Given the description of an element on the screen output the (x, y) to click on. 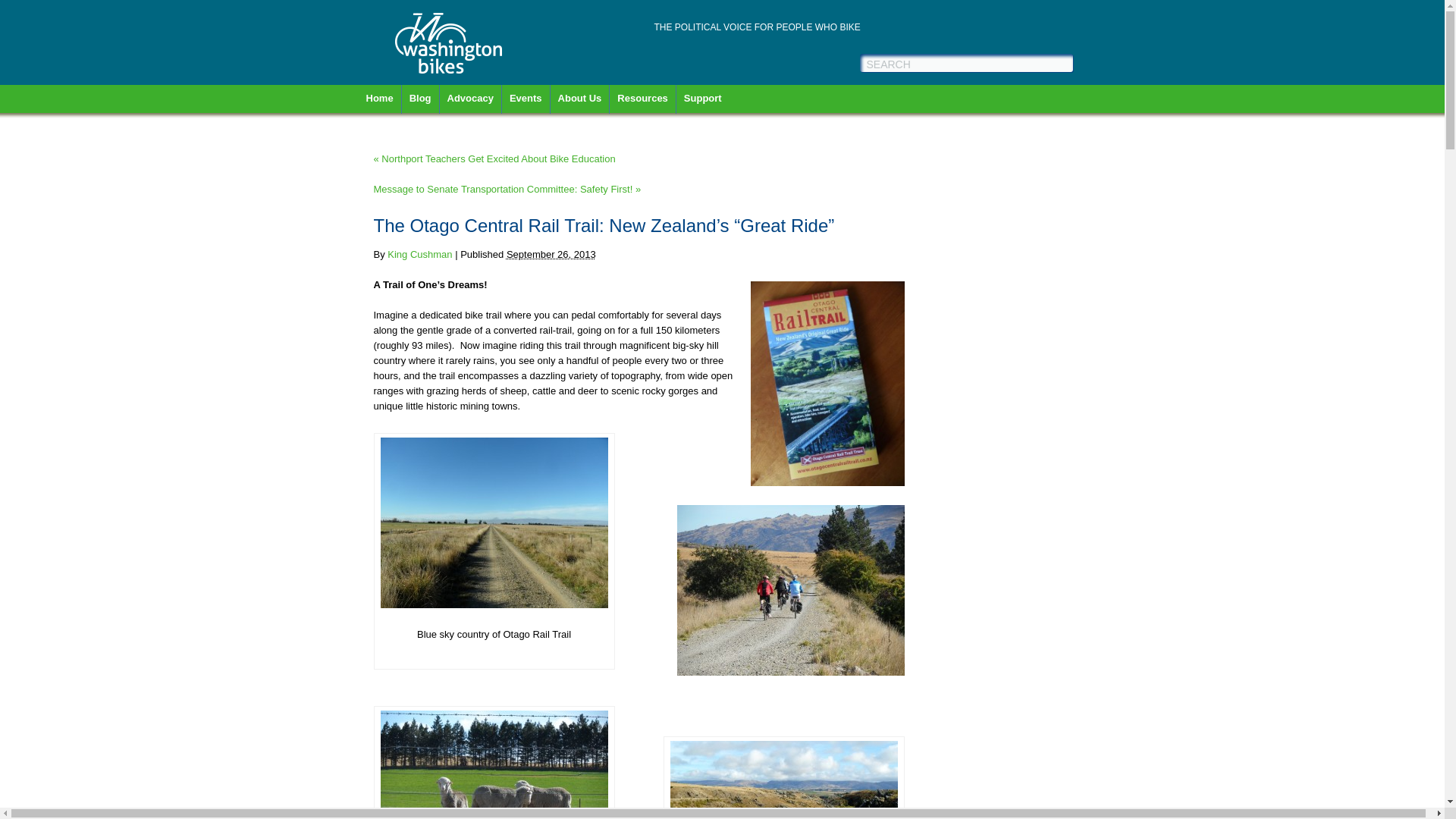
2013-09-26T07:17:11-0700 (550, 254)
SEARCH (970, 64)
King Cushman (419, 254)
Resources (646, 102)
Advocacy (473, 102)
About Us (583, 102)
Home (382, 102)
Events (529, 102)
Blog (424, 102)
Support (706, 102)
THE POLITICAL VOICE FOR PEOPLE WHO BIKE (756, 27)
View all articles by King Cushman (419, 254)
